Given the description of an element on the screen output the (x, y) to click on. 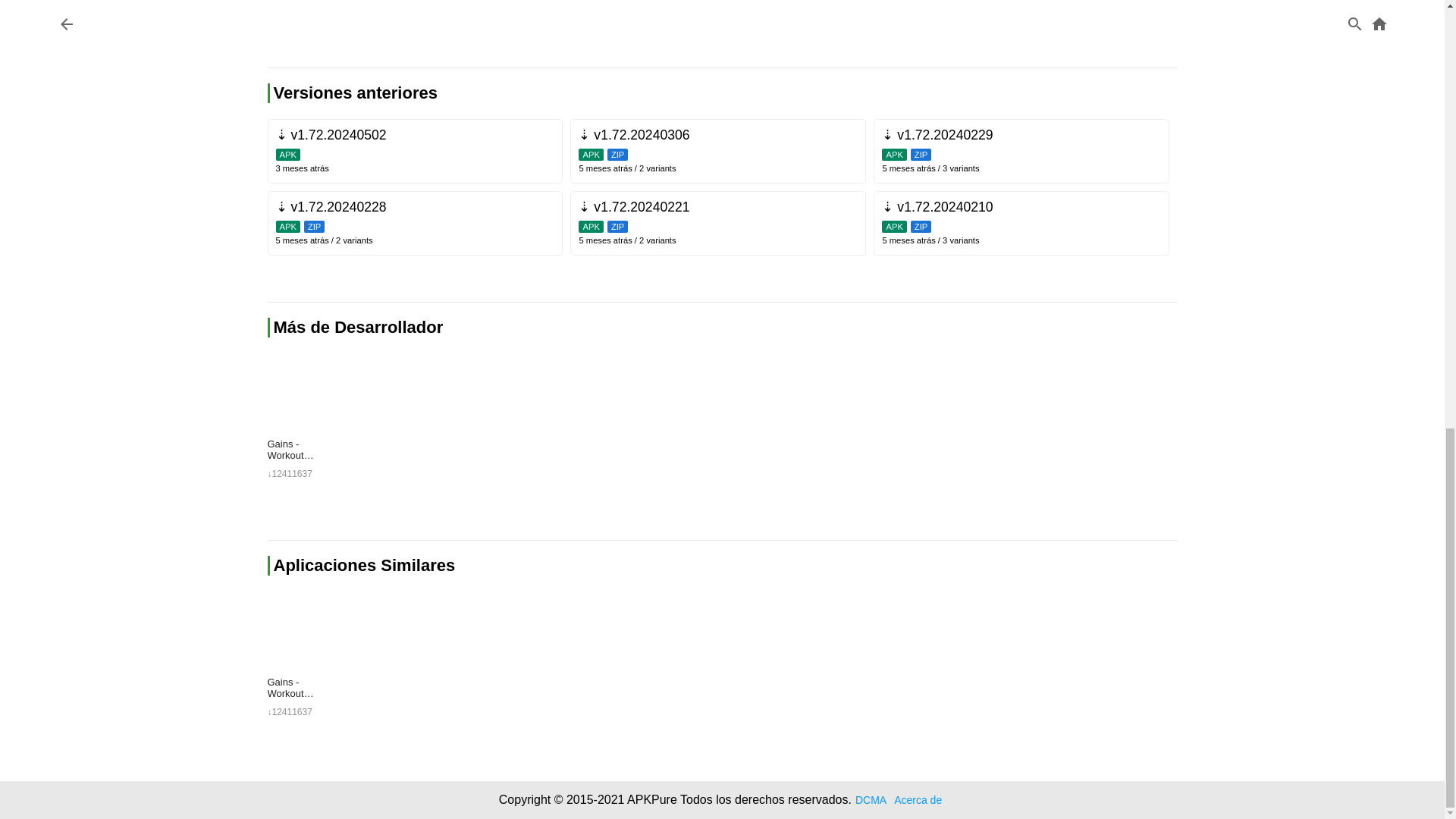
DCMA (870, 799)
Viszen APKs (357, 326)
Acerca de (916, 799)
